Given the description of an element on the screen output the (x, y) to click on. 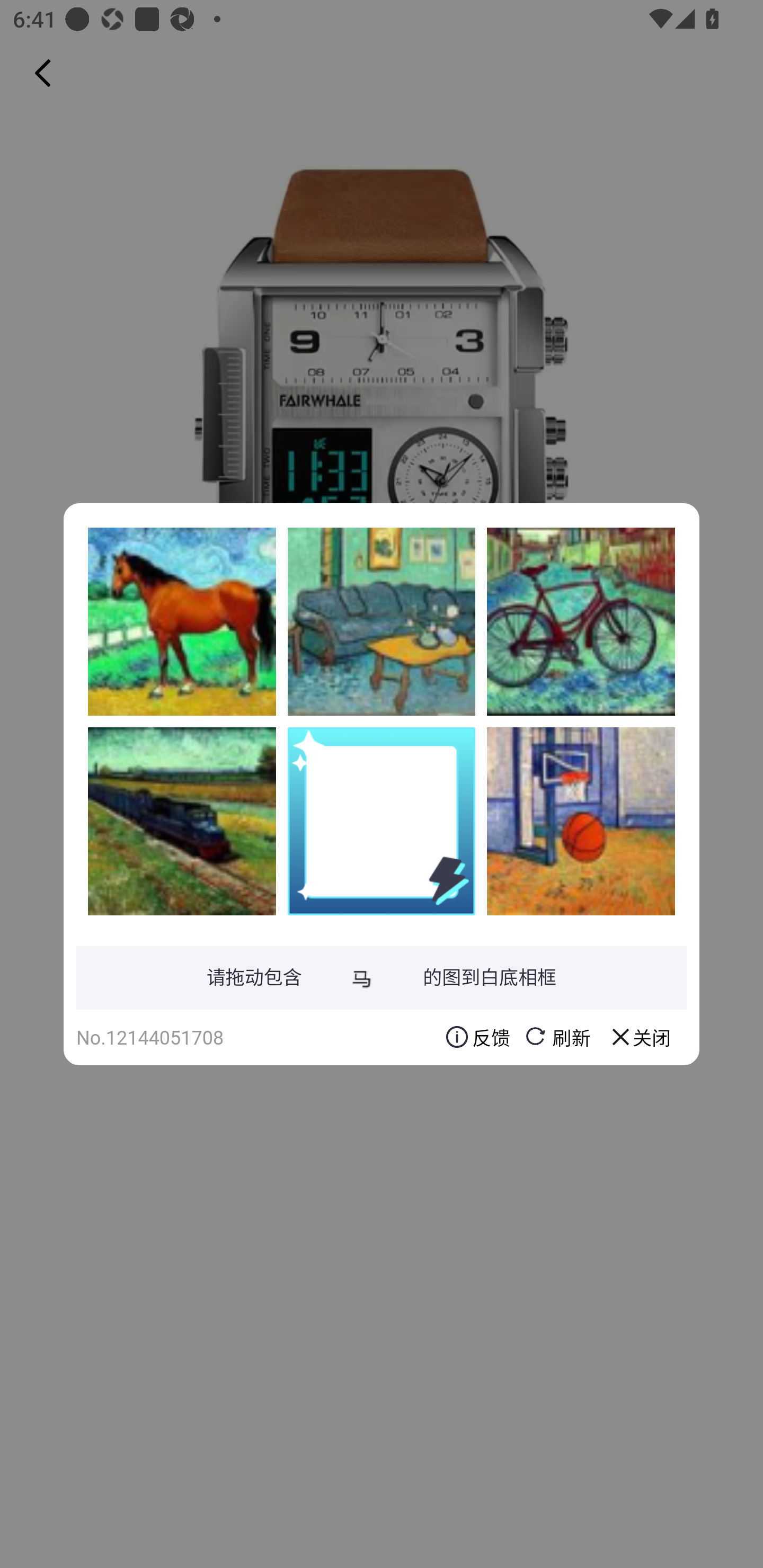
N12TdEwclxqlycos2lKR (181, 621)
uwv0vzvNwr (381, 621)
wQUGLkSX5XIx+5W9YskmgcFzM6jyZuwuStOOyDsNo3p (580, 621)
9f0PckHV2J++S2 (580, 820)
